Given the description of an element on the screen output the (x, y) to click on. 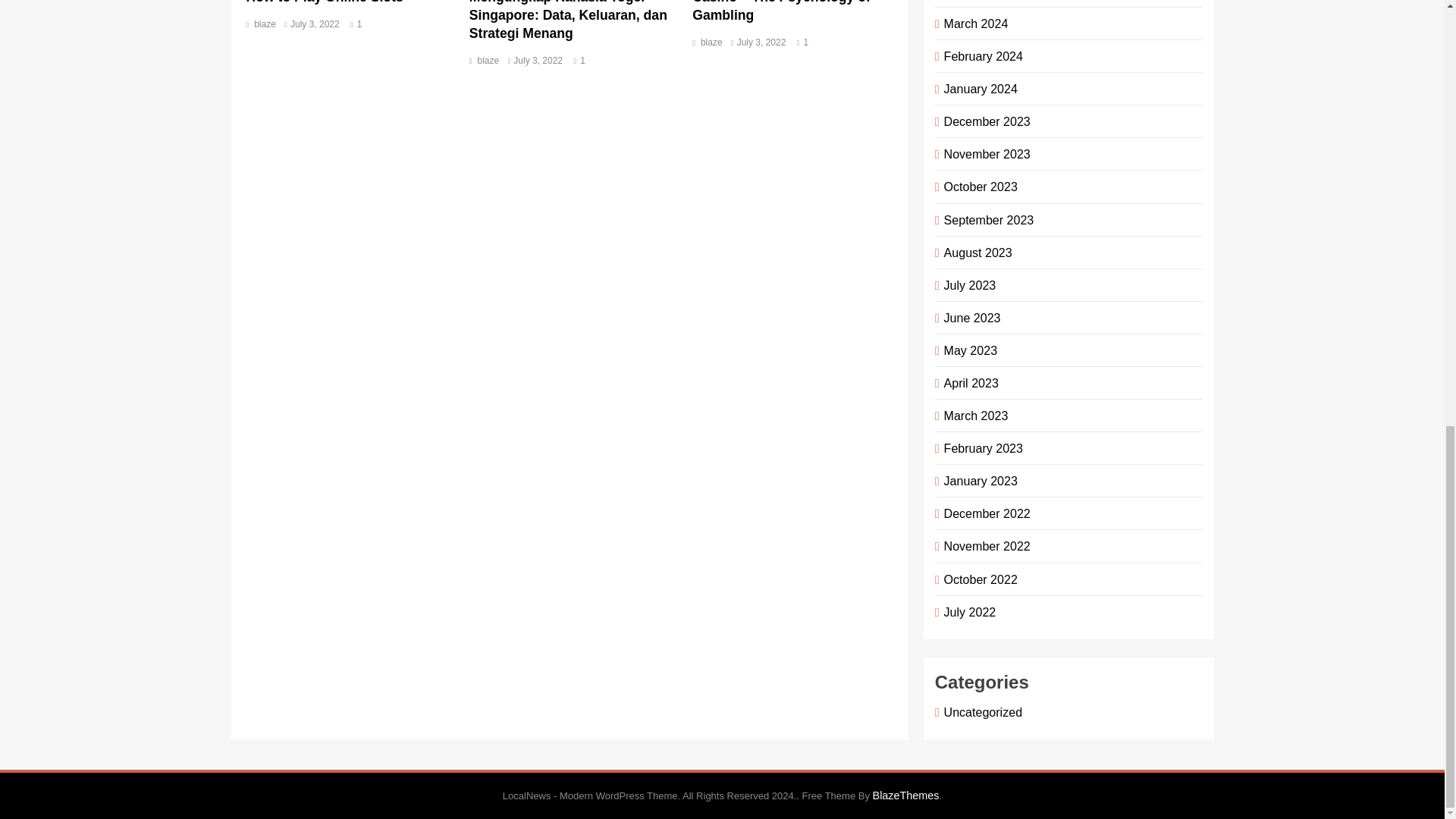
January 2024 (978, 88)
February 2024 (980, 56)
December 2023 (983, 120)
March 2024 (972, 23)
How to Play Online Slots (324, 2)
